Given the description of an element on the screen output the (x, y) to click on. 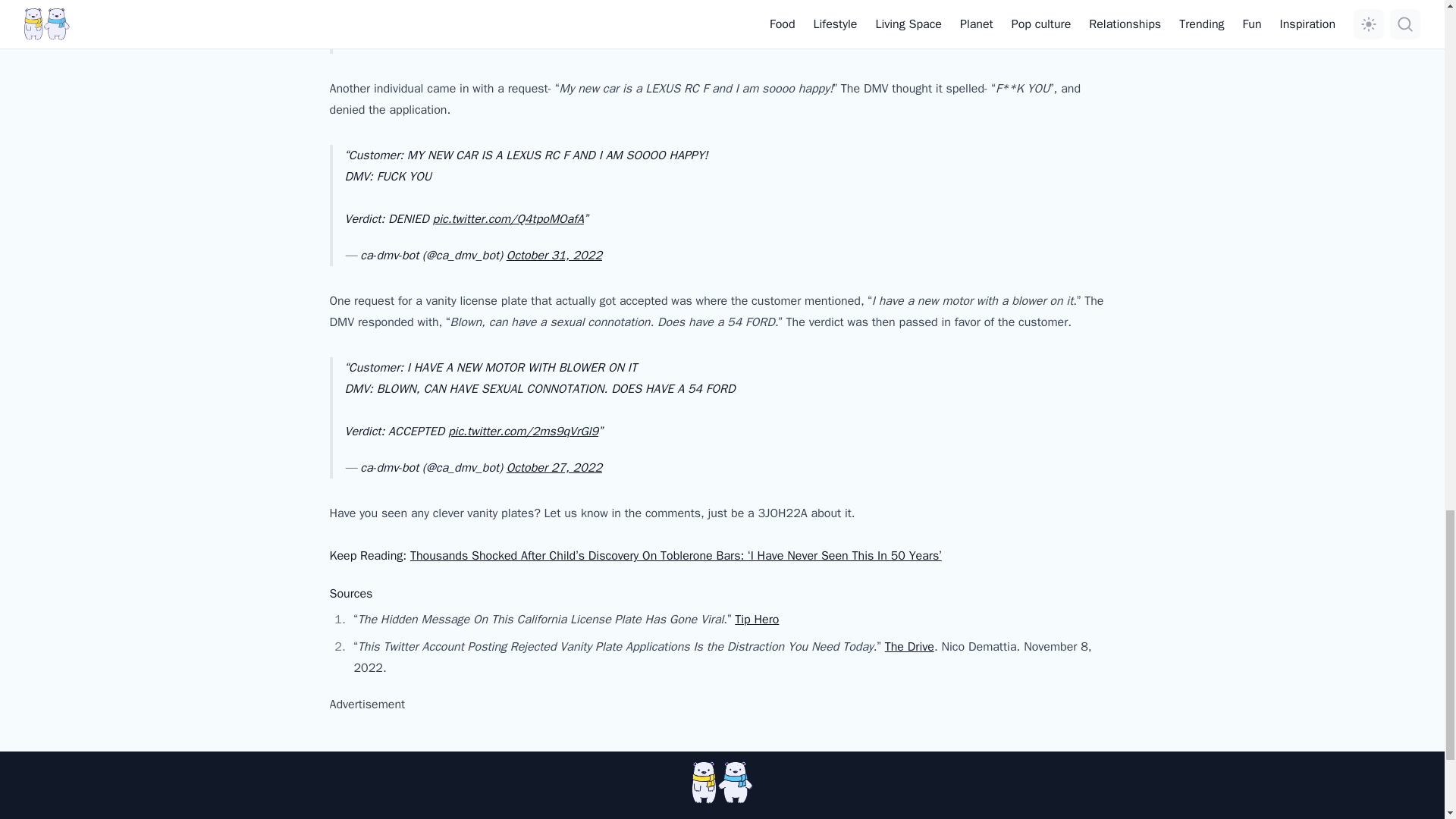
October 4, 2022 (550, 43)
October 31, 2022 (554, 255)
Tip Hero (756, 619)
October 27, 2022 (554, 467)
The Drive (909, 646)
